Given the description of an element on the screen output the (x, y) to click on. 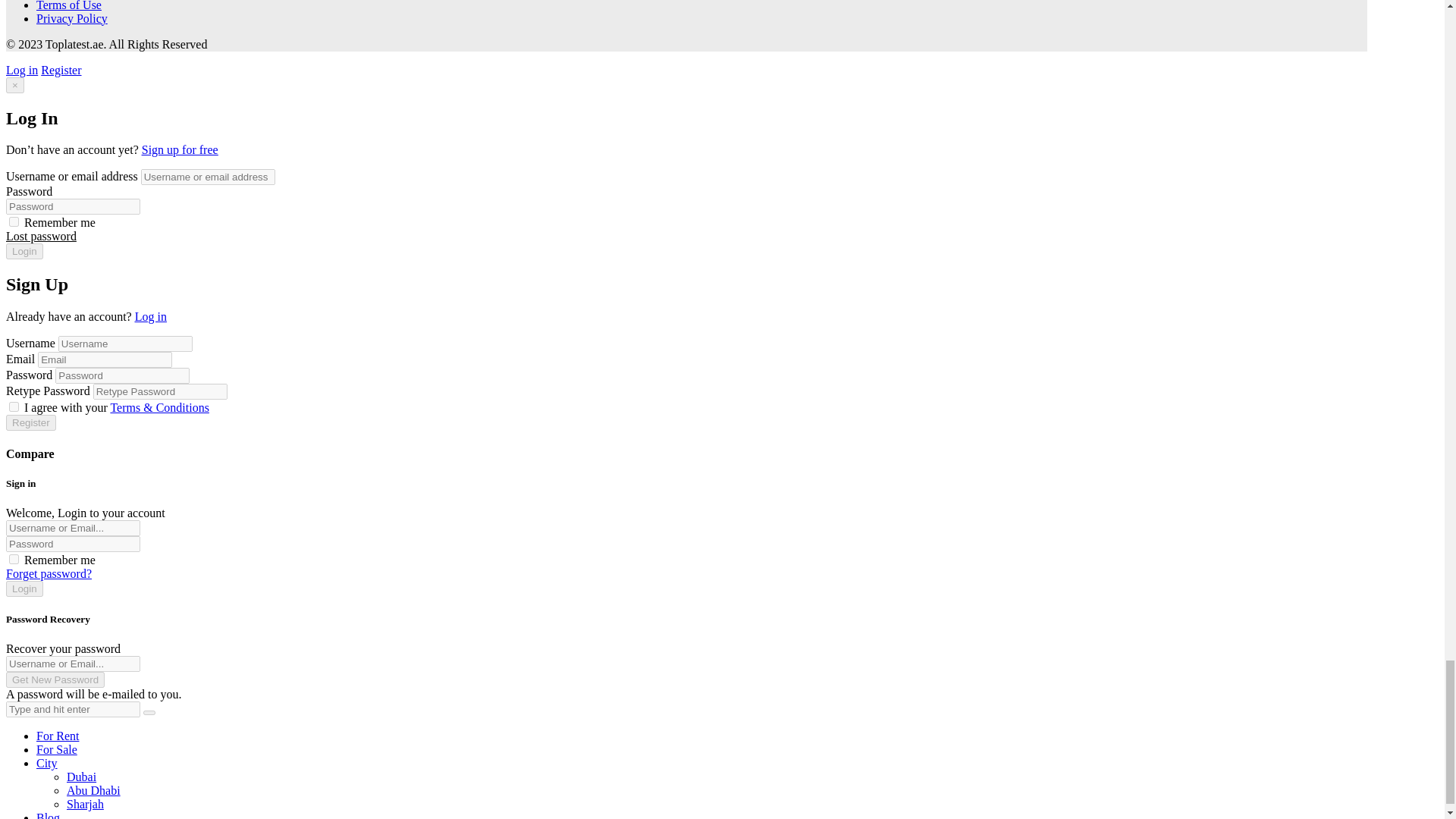
on (13, 559)
on (13, 406)
on (13, 221)
